Given the description of an element on the screen output the (x, y) to click on. 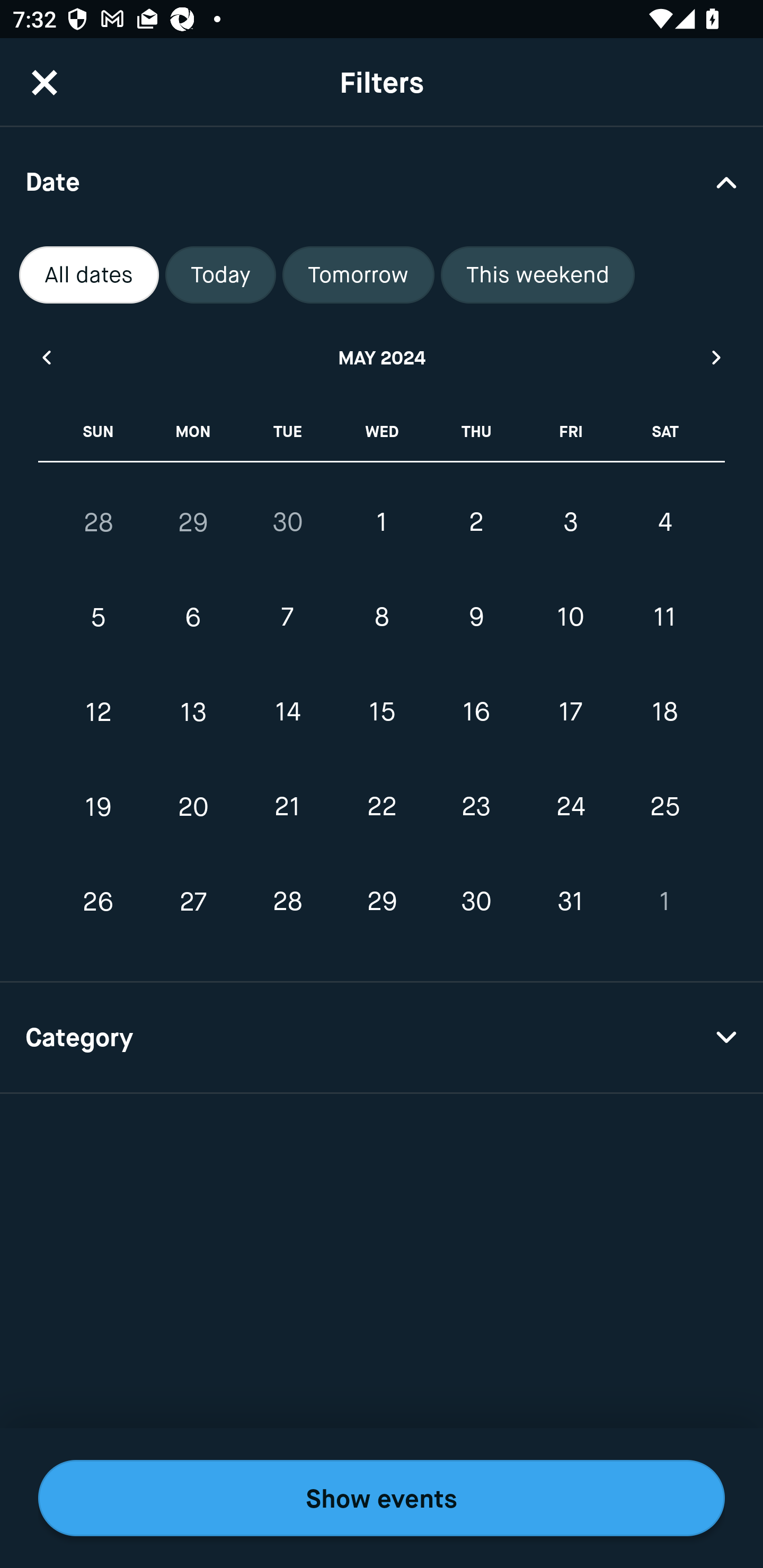
CloseButton (44, 82)
Date Drop Down Arrow (381, 181)
All dates (88, 274)
Today (220, 274)
Tomorrow (358, 274)
This weekend (537, 274)
Previous (45, 357)
Next (717, 357)
28 (98, 522)
29 (192, 522)
30 (287, 522)
1 (381, 522)
2 (475, 522)
3 (570, 522)
4 (664, 522)
5 (98, 617)
6 (192, 617)
7 (287, 617)
8 (381, 617)
9 (475, 617)
10 (570, 617)
11 (664, 617)
12 (98, 711)
13 (192, 711)
14 (287, 711)
15 (381, 711)
16 (475, 711)
17 (570, 711)
18 (664, 711)
19 (98, 806)
20 (192, 806)
21 (287, 806)
22 (381, 806)
23 (475, 806)
24 (570, 806)
25 (664, 806)
26 (98, 901)
27 (192, 901)
28 (287, 901)
29 (381, 901)
30 (475, 901)
31 (570, 901)
1 (664, 901)
Category Drop Down Arrow (381, 1038)
Show events (381, 1497)
